Given the description of an element on the screen output the (x, y) to click on. 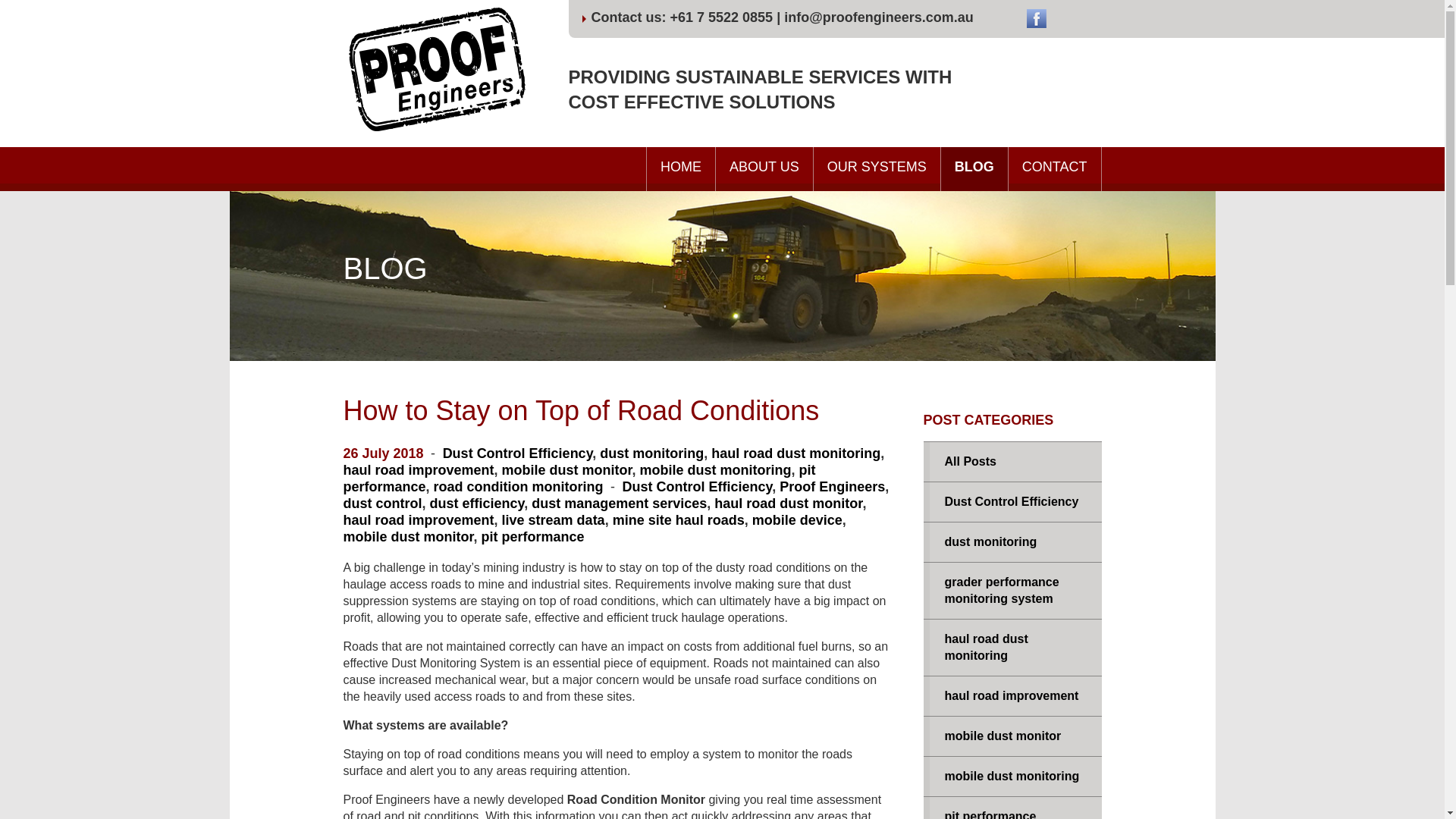
pit performance (578, 478)
mobile dust monitoring (1012, 776)
Dust Control Efficiency (698, 486)
Dust Control Efficiency (517, 453)
haul road improvement (417, 519)
mobile device (797, 519)
pit performance (533, 536)
dust management services (618, 503)
pit performance (1012, 807)
CONTACT (1055, 168)
